Given the description of an element on the screen output the (x, y) to click on. 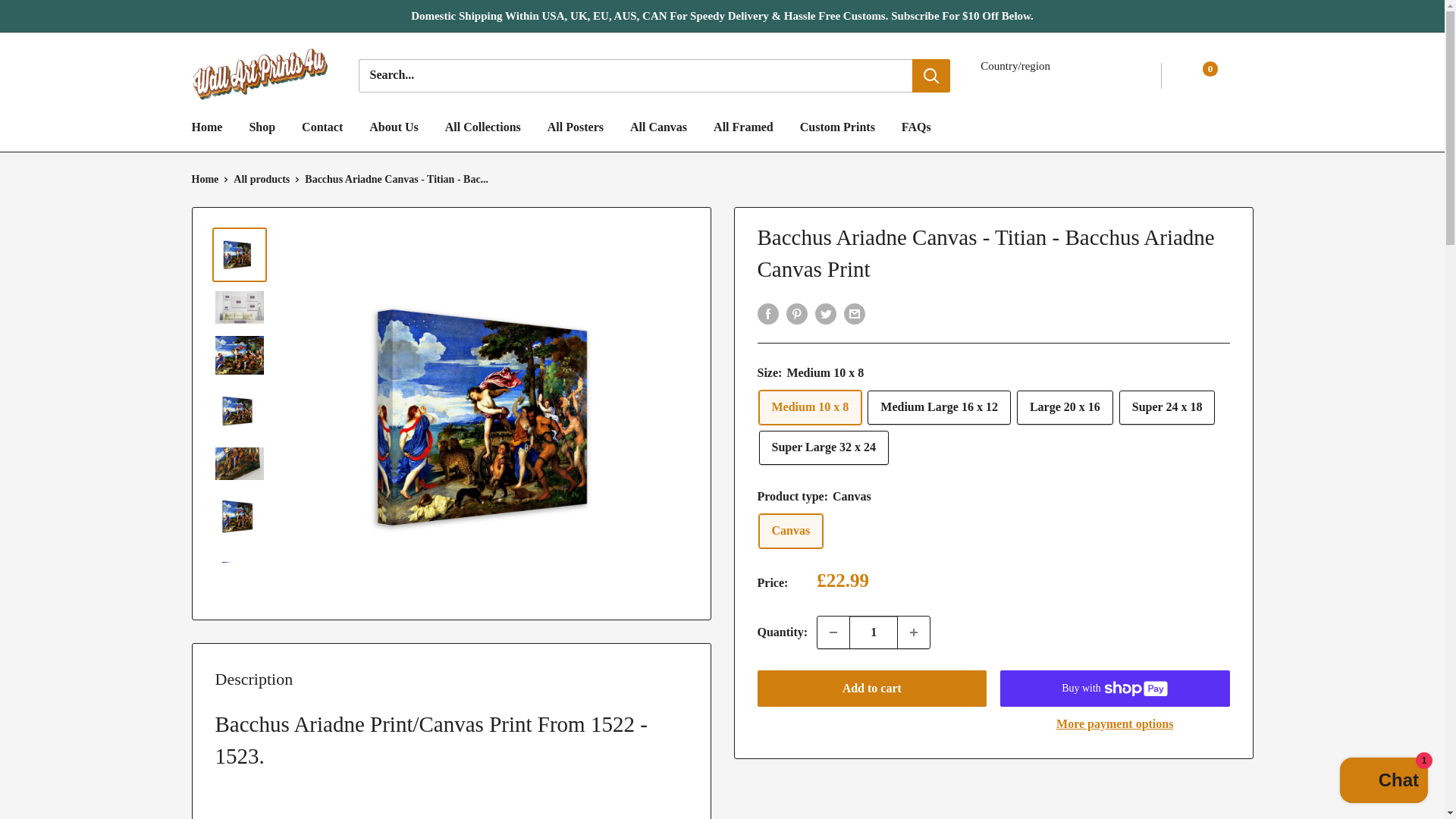
Increase quantity by 1 (914, 632)
Large 20 x 16 (1064, 407)
AU (1054, 134)
Decrease quantity by 1 (832, 632)
WallArtPrints4U (258, 75)
BR (1054, 226)
Medium Large 16 x 12 (938, 407)
CZ (1054, 296)
Super Large 32 x 24 (823, 447)
BE (1054, 203)
1 (873, 632)
BH (1054, 180)
Canvas (790, 530)
CA (1054, 272)
Medium 10 x 8 (809, 407)
